Given the description of an element on the screen output the (x, y) to click on. 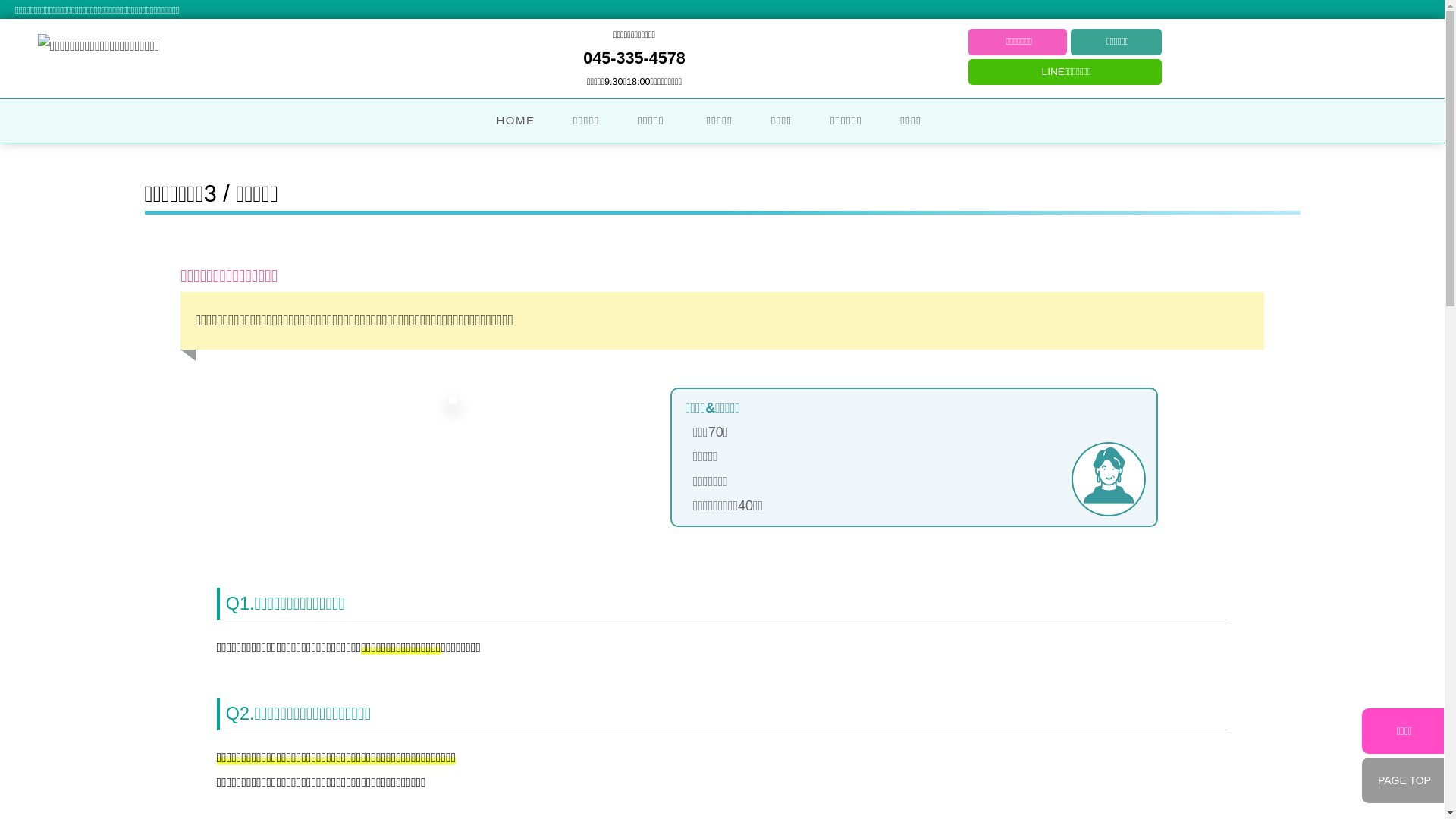
 PAGE TOP Element type: text (1402, 779)
HOME Element type: text (514, 120)
